Given the description of an element on the screen output the (x, y) to click on. 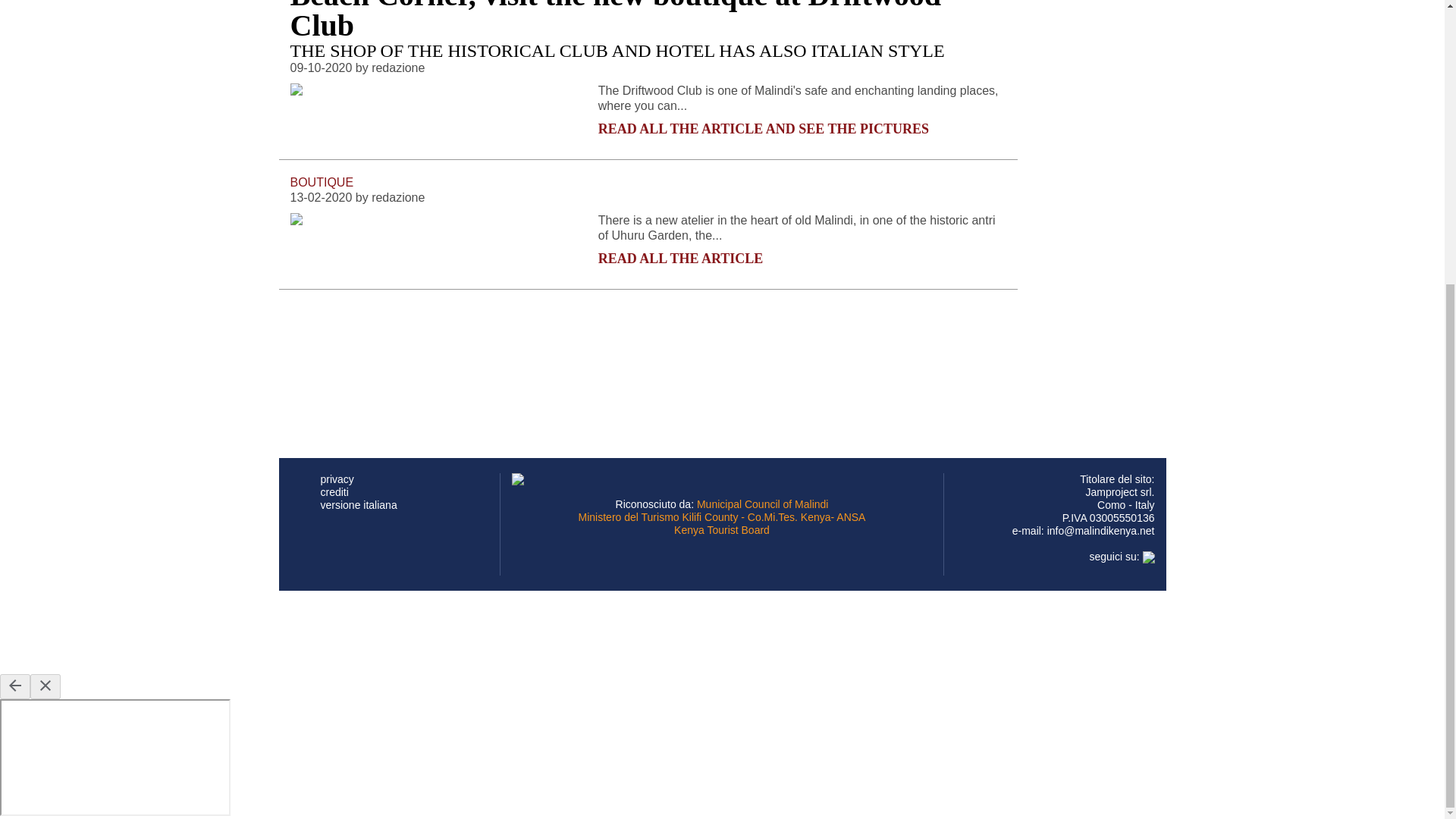
Advertisement (565, 338)
Advertisement (721, 632)
Advertisement (565, 104)
